Given the description of an element on the screen output the (x, y) to click on. 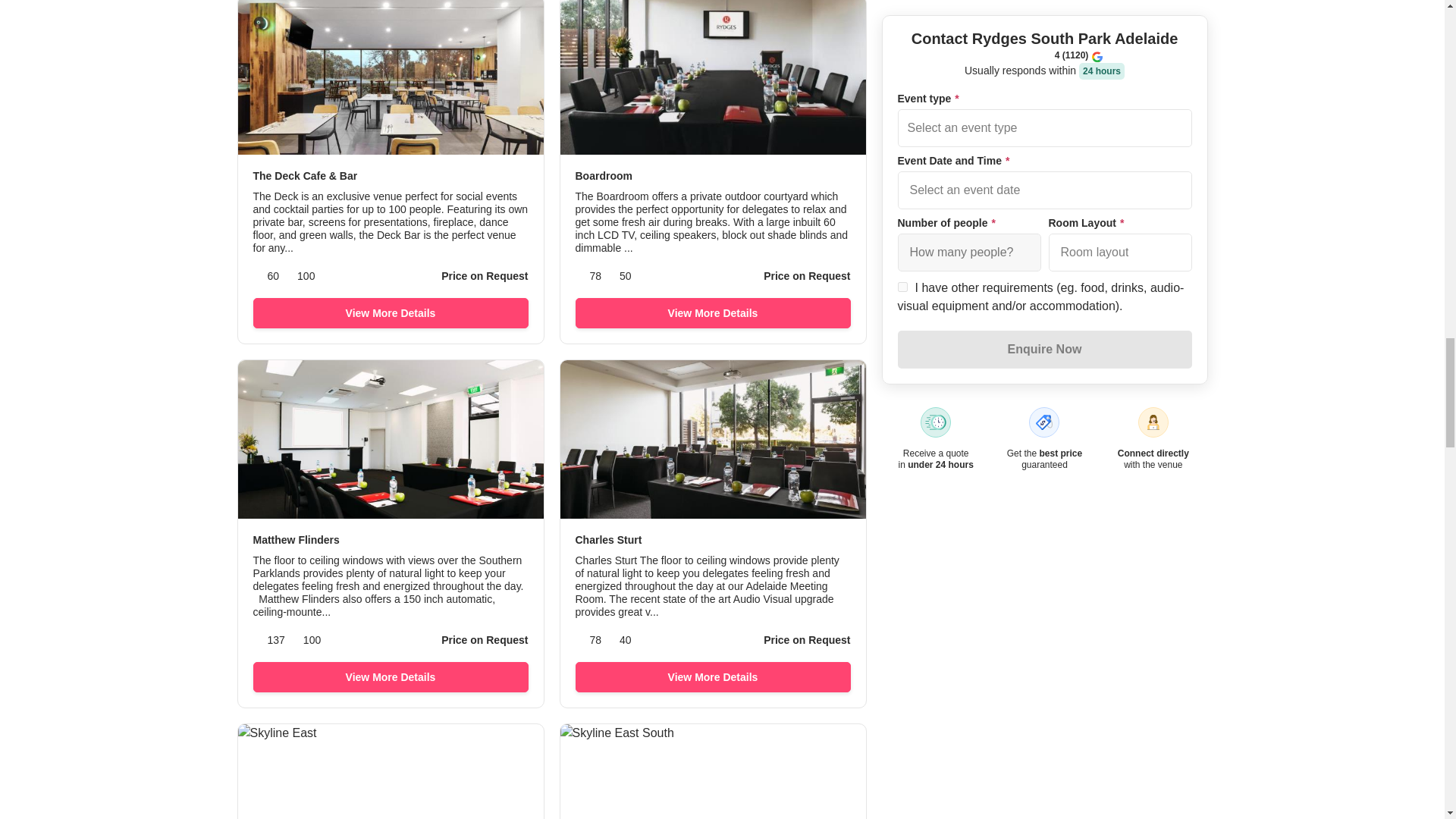
Matthew Flinders (390, 540)
Add Matthew Flinders space to wishlist (515, 387)
Charles Sturt (712, 540)
Boardroom (712, 175)
View More Details (390, 313)
Add Boardroom space to wishlist (838, 23)
Matthew Flinders (390, 540)
View More Details (712, 313)
View More Details (390, 676)
Boardroom (712, 175)
Add Charles Sturt space to wishlist (838, 387)
